Given the description of an element on the screen output the (x, y) to click on. 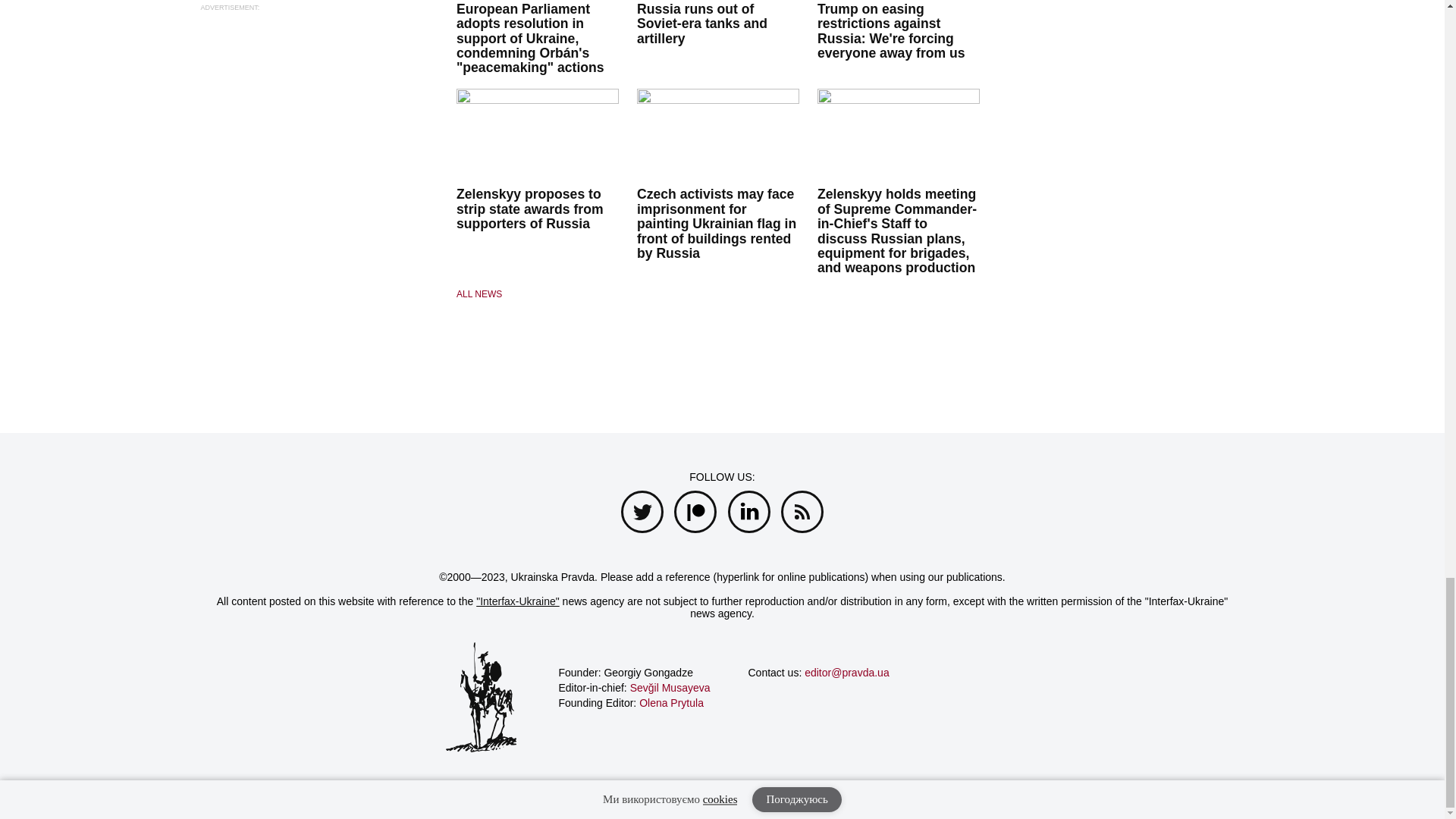
Russia runs out of Soviet-era tanks and artillery (702, 23)
